Given the description of an element on the screen output the (x, y) to click on. 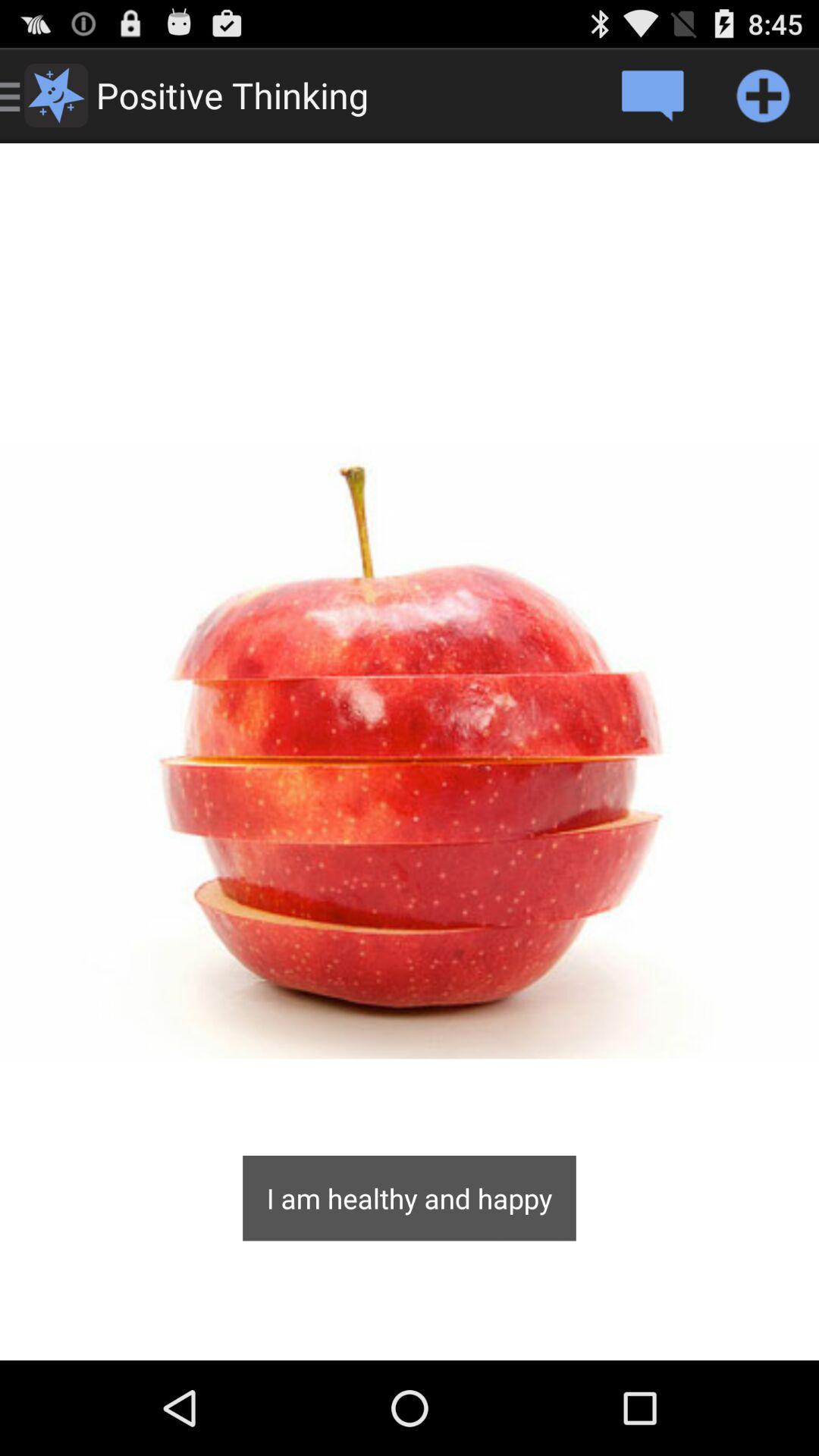
post a comment to the image (651, 95)
